Given the description of an element on the screen output the (x, y) to click on. 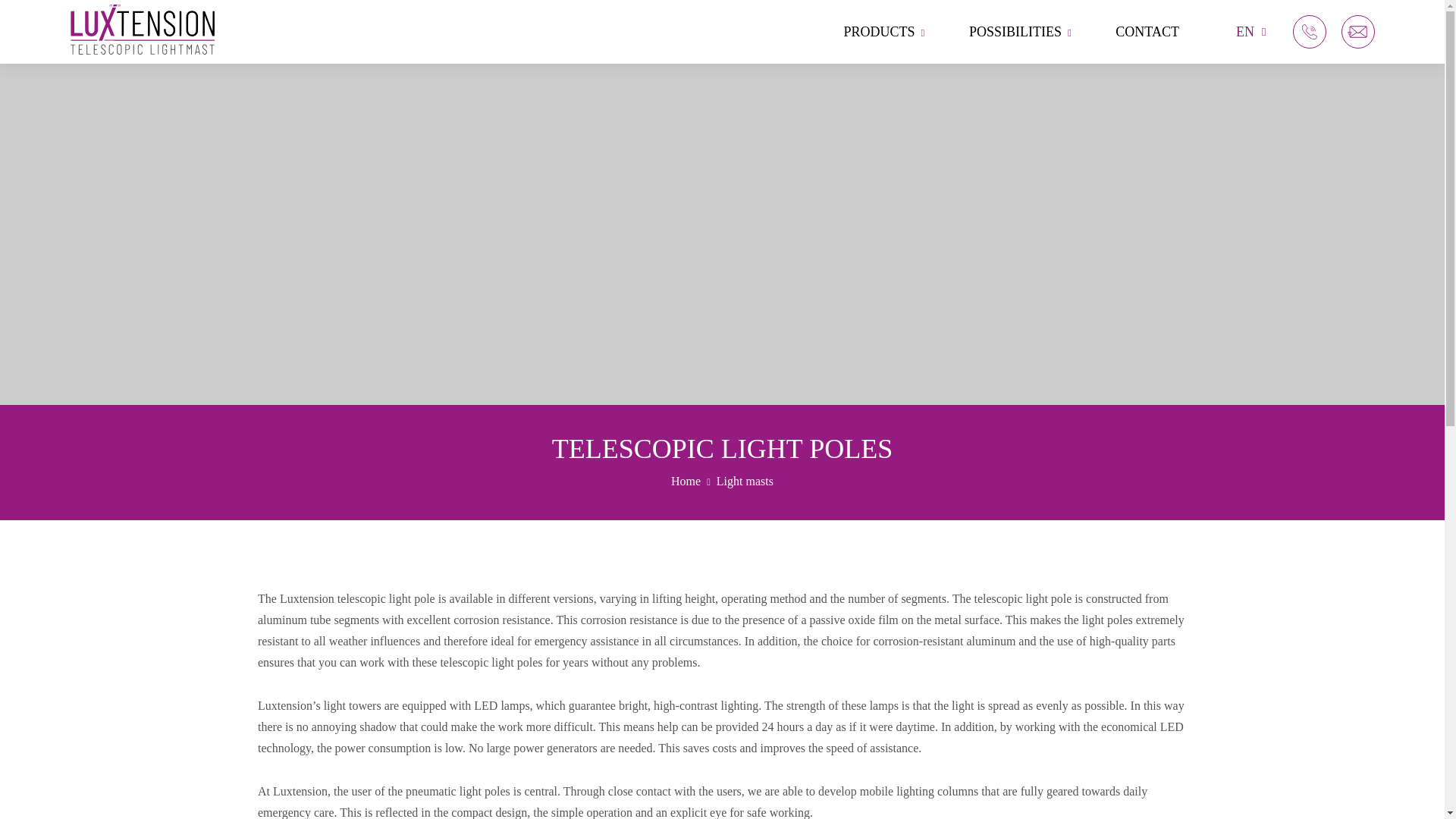
PRODUCTS (883, 31)
Ga naar Luxtension. (685, 481)
CONTACT (1147, 31)
POSSIBILITIES (1020, 31)
Home (685, 481)
